Given the description of an element on the screen output the (x, y) to click on. 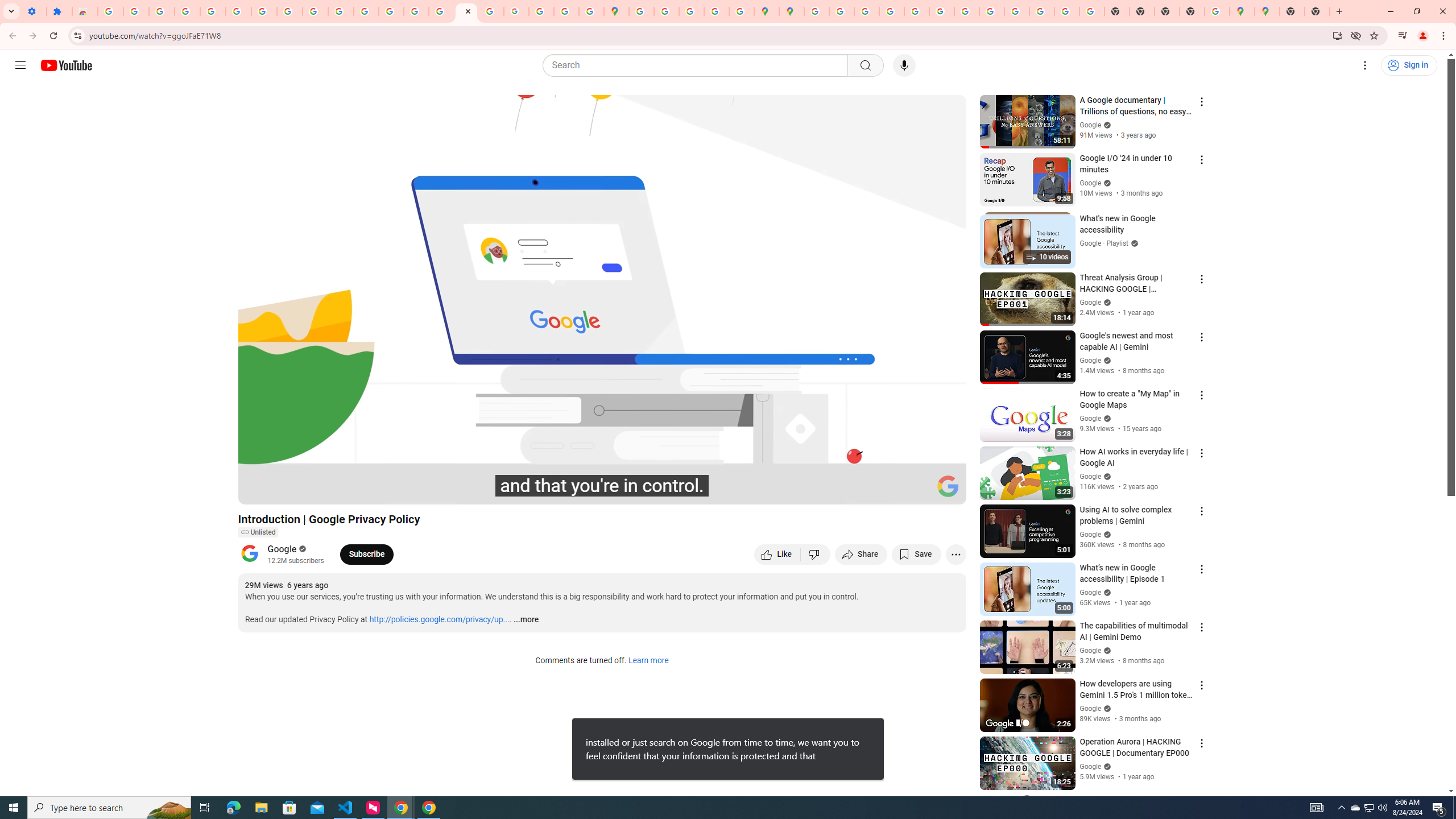
Privacy Help Center - Policies Help (391, 11)
Safety in Our Products - Google Safety Center (740, 11)
https://scholar.google.com/ (340, 11)
Share (861, 554)
Google Maps (616, 11)
